Given the description of an element on the screen output the (x, y) to click on. 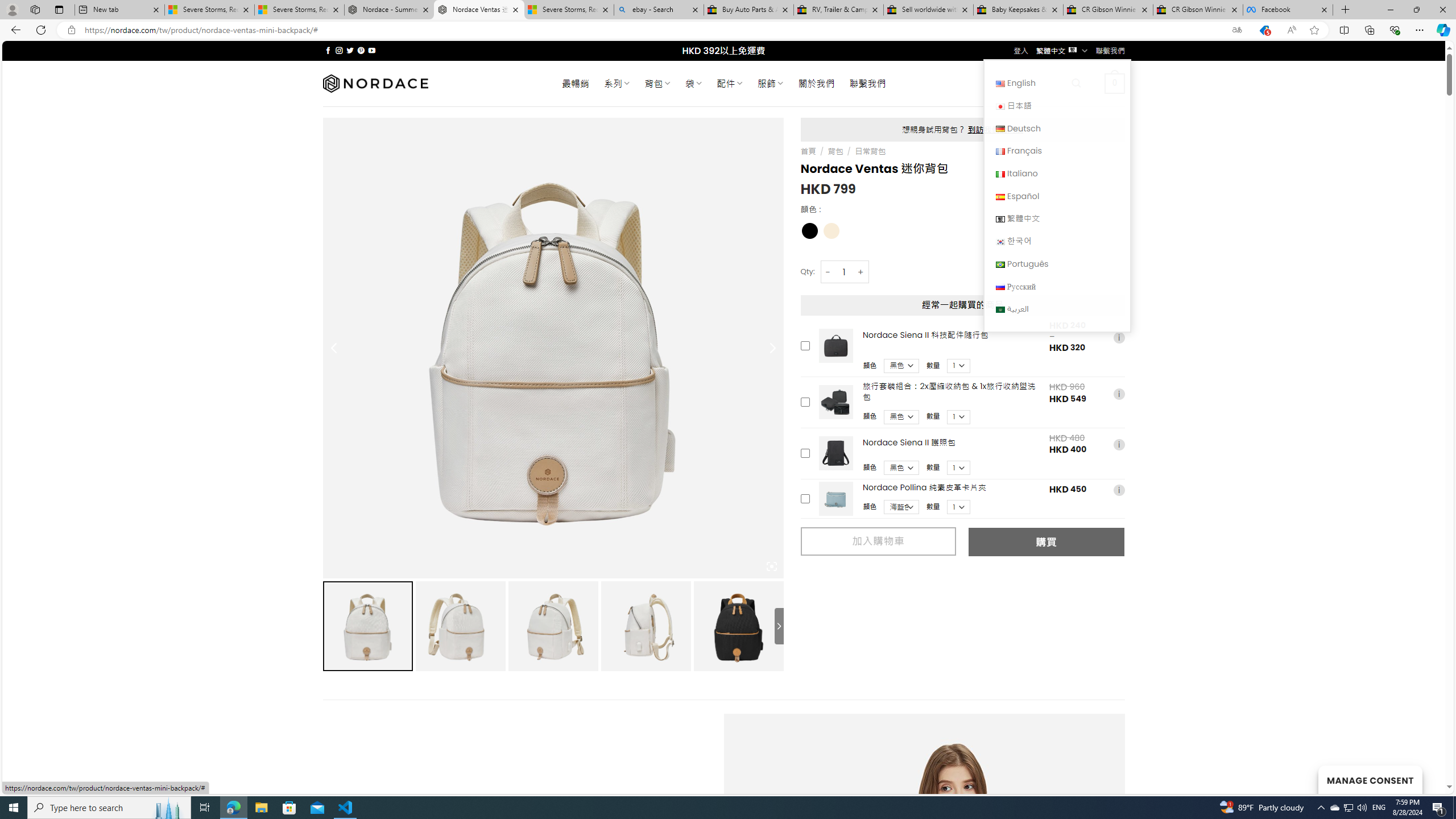
English English (1056, 83)
Class: upsell-v2-product-upsell-variable-product-qty-select (958, 506)
Italiano Italiano (1056, 173)
Add this product to cart (804, 498)
 Deutsch (1056, 128)
Sell worldwide with eBay (928, 9)
- (827, 272)
